Given the description of an element on the screen output the (x, y) to click on. 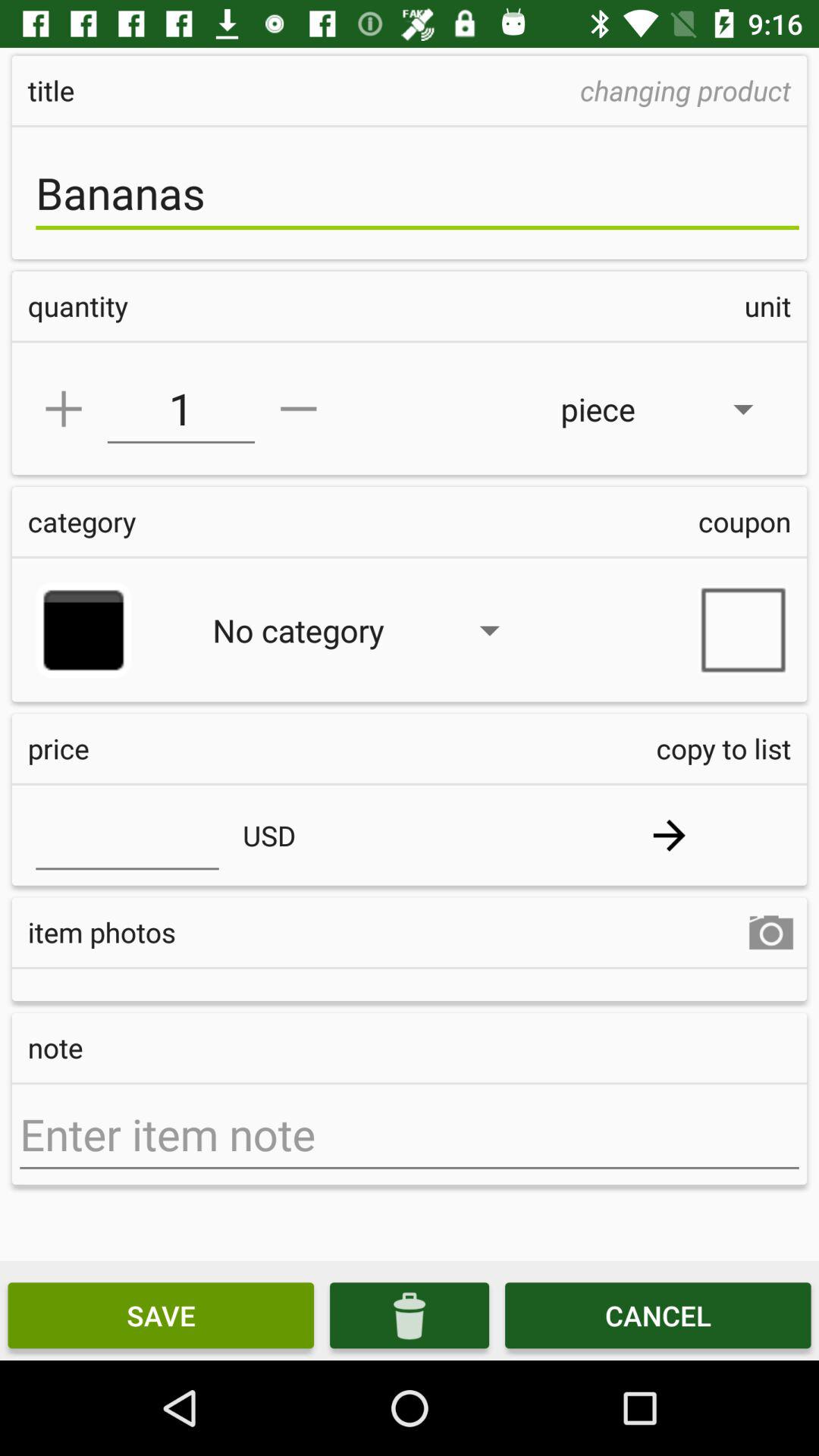
enter numbers here (126, 835)
